Given the description of an element on the screen output the (x, y) to click on. 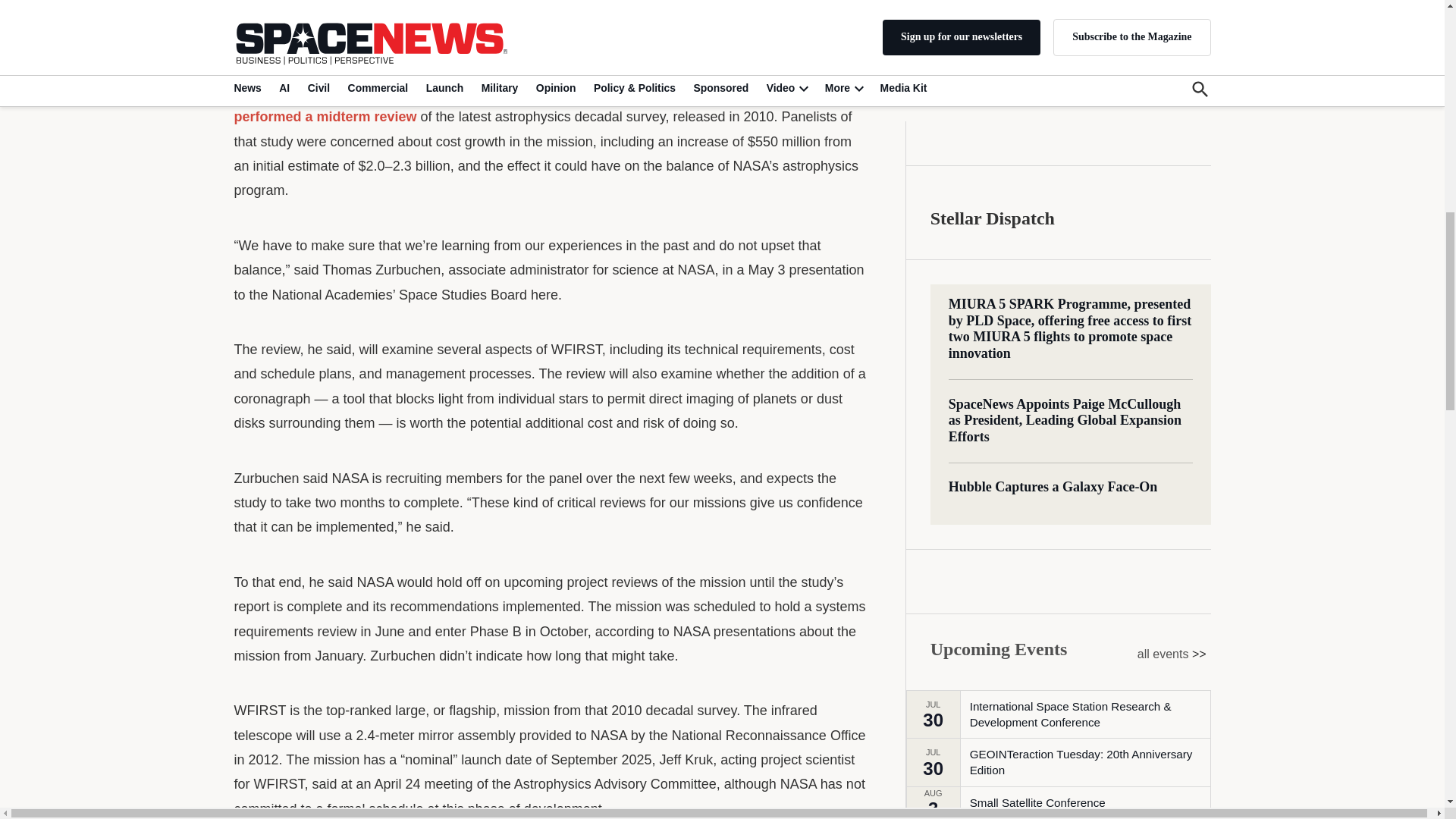
GEOINTeraction Tuesday: 20th Anniversary Edition (1089, 144)
Small Satellite Conference (1037, 185)
Space-Comm Expo Scotland (1043, 217)
